Given the description of an element on the screen output the (x, y) to click on. 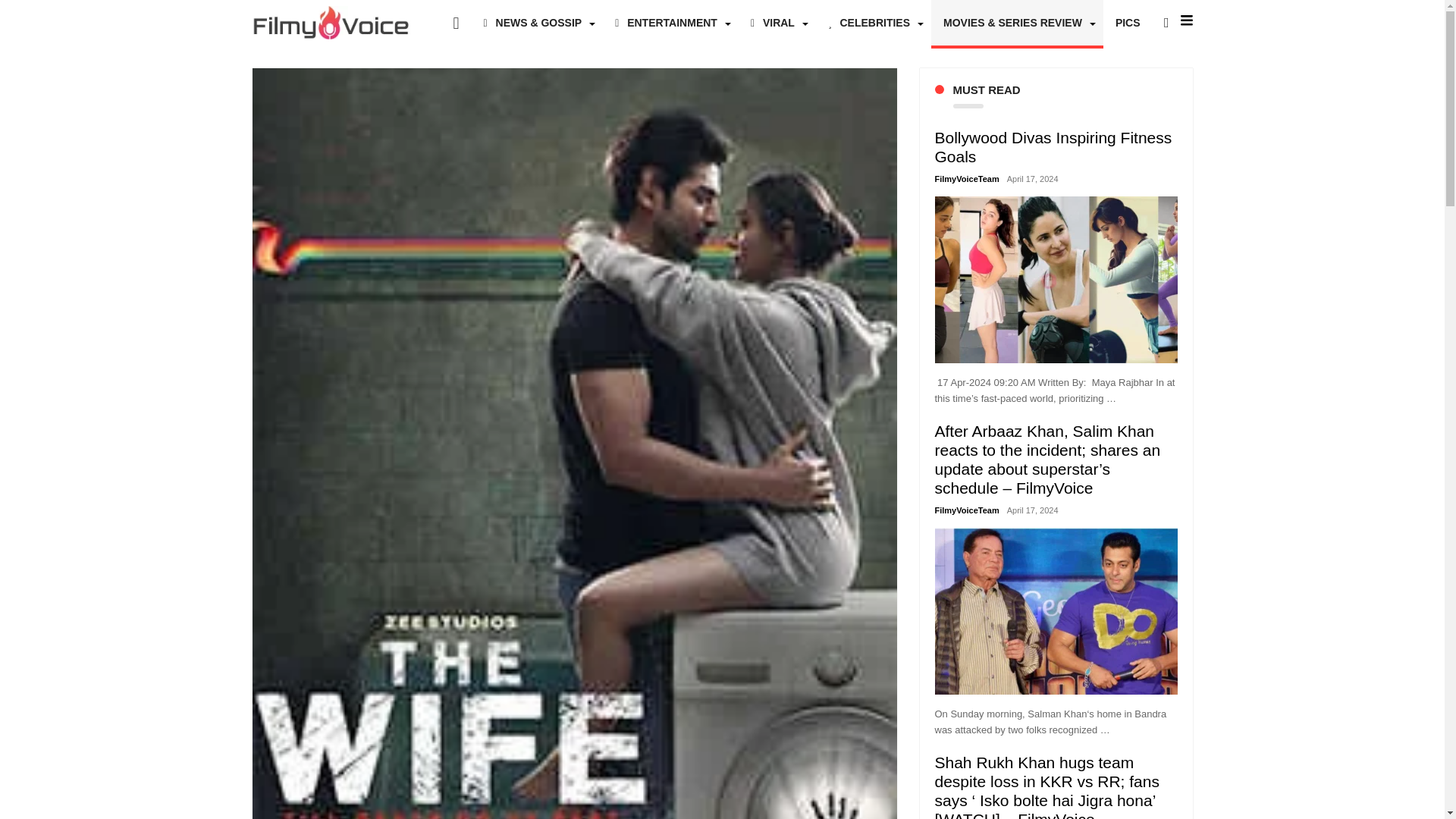
ENTERTAINMENT (670, 22)
VIRAL (776, 22)
CELEBRITIES (873, 22)
